Given the description of an element on the screen output the (x, y) to click on. 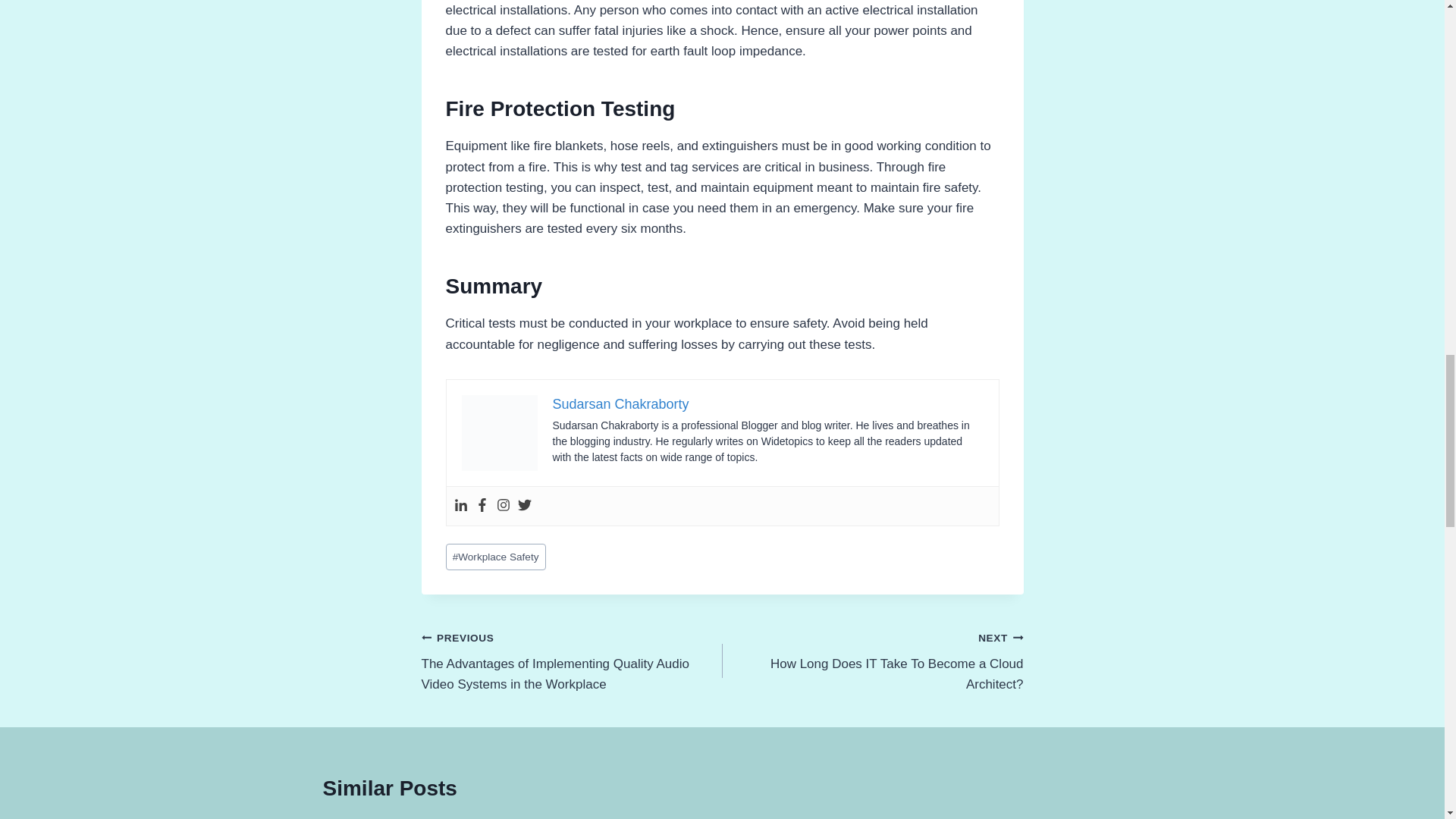
Sudarsan Chakraborty (872, 661)
Workplace Safety (619, 403)
